Given the description of an element on the screen output the (x, y) to click on. 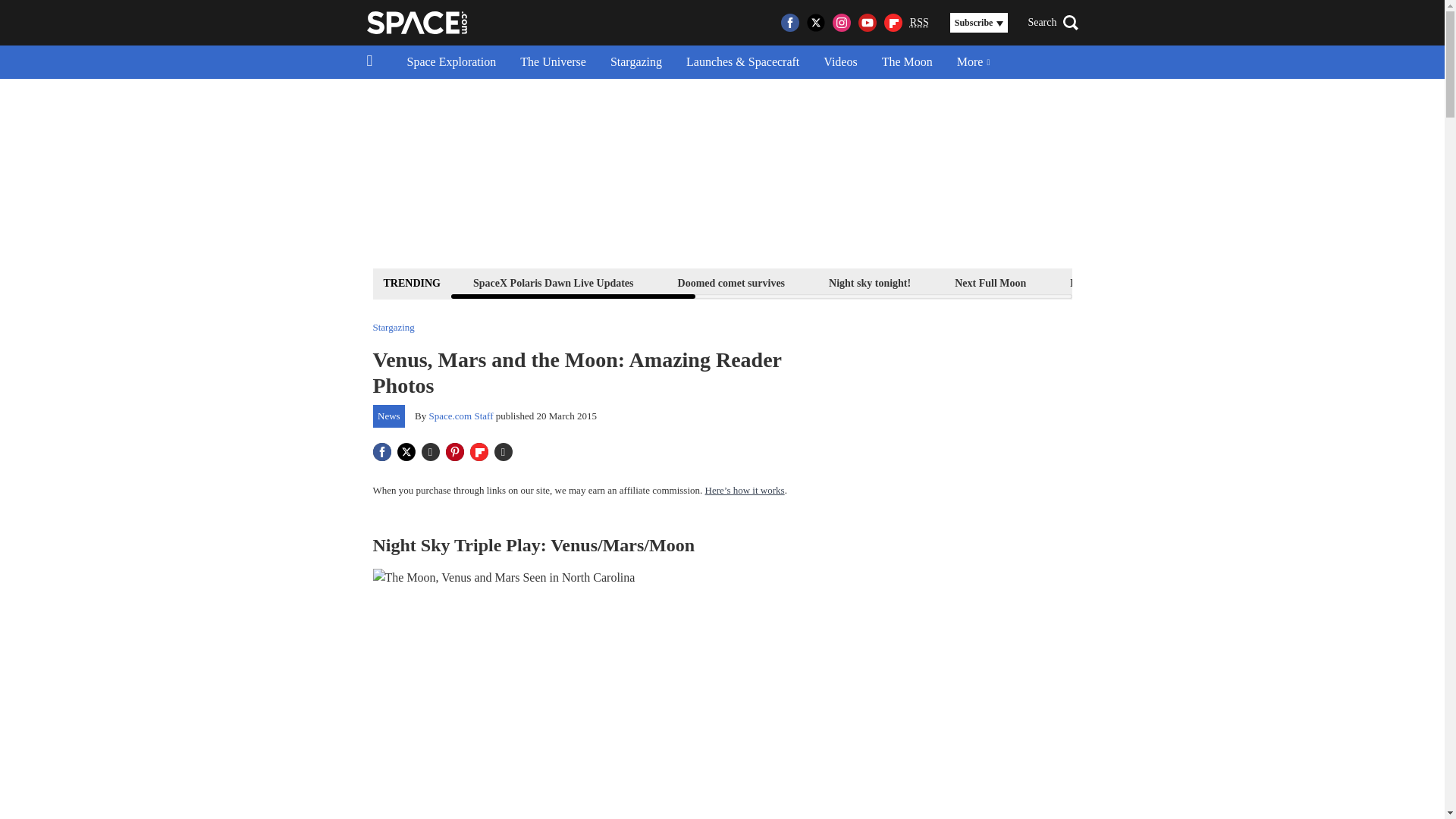
Next Full Moon (989, 282)
Best Binoculars (1218, 282)
Best Star Projectors (1343, 282)
SpaceX Polaris Dawn Live Updates (553, 282)
Stargazing (636, 61)
Best Telescopes (1104, 282)
Videos (839, 61)
Really Simple Syndication (919, 21)
The Universe (553, 61)
Night sky tonight! (869, 282)
